Given the description of an element on the screen output the (x, y) to click on. 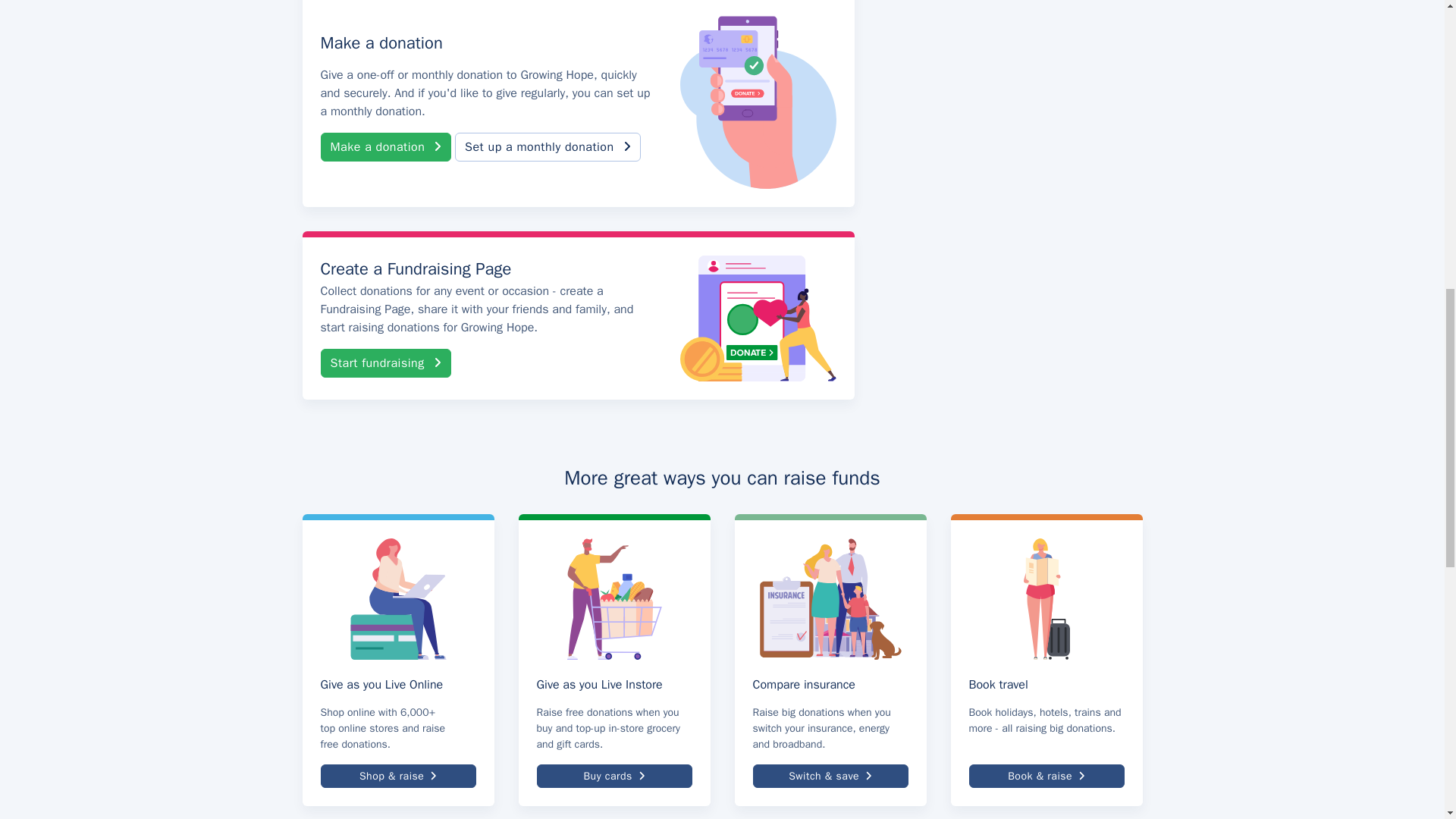
Buy cards (615, 775)
Set up a monthly donation (547, 146)
Make a donation (385, 146)
Start fundraising (384, 362)
